Given the description of an element on the screen output the (x, y) to click on. 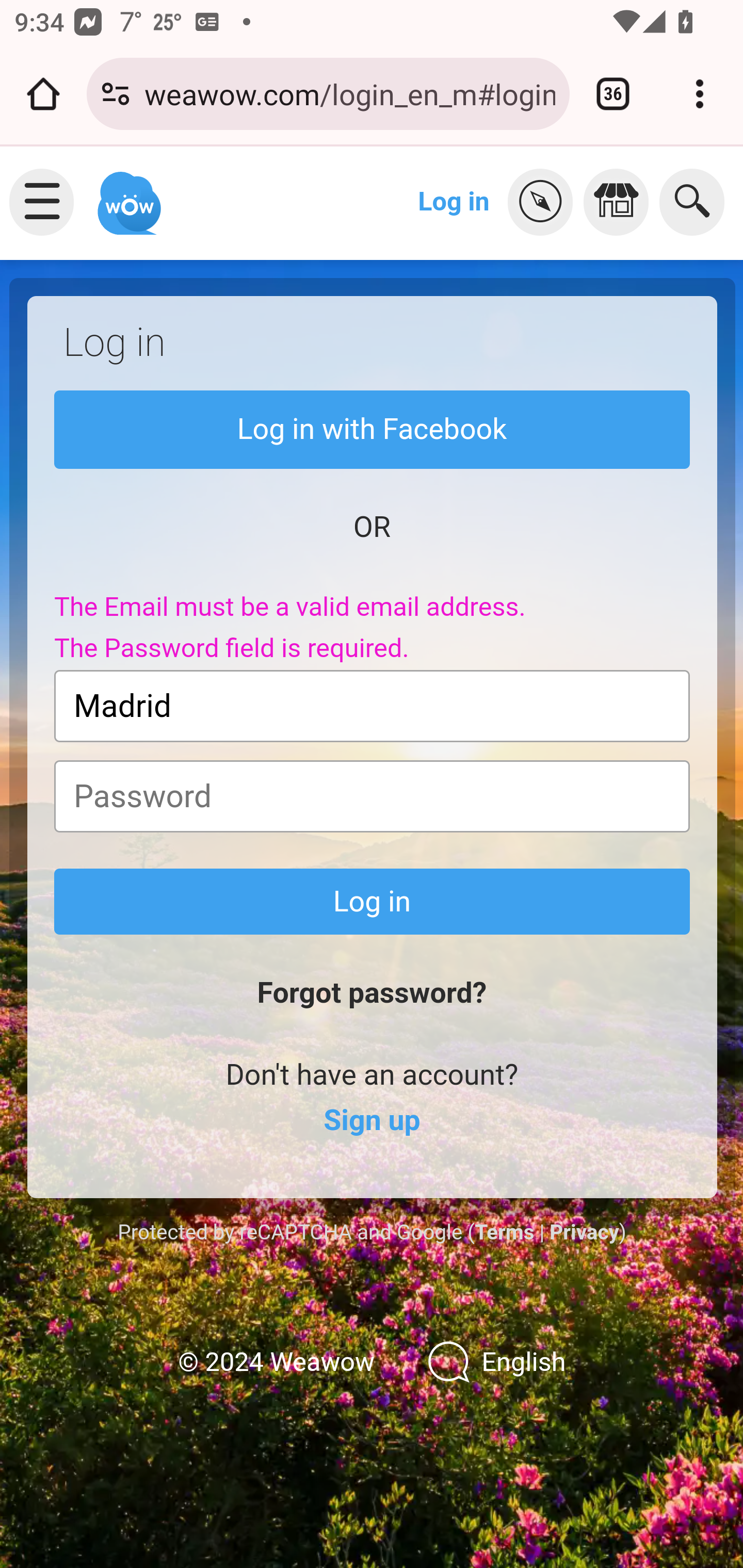
Open the home page (43, 93)
Connection is secure (115, 93)
Switch or close tabs (612, 93)
Customize and control Google Chrome (699, 93)
weawow.com/login_en_m#login (349, 92)
Weawow (127, 194)
 (545, 201)
 (621, 201)
Log in (453, 201)
Madrid (372, 706)
Log in (372, 902)
Forgot password? (371, 993)
Sign up (371, 1120)
Terms (503, 1231)
Privacy (583, 1231)
© 2024 Weawow (275, 1362)
